Given the description of an element on the screen output the (x, y) to click on. 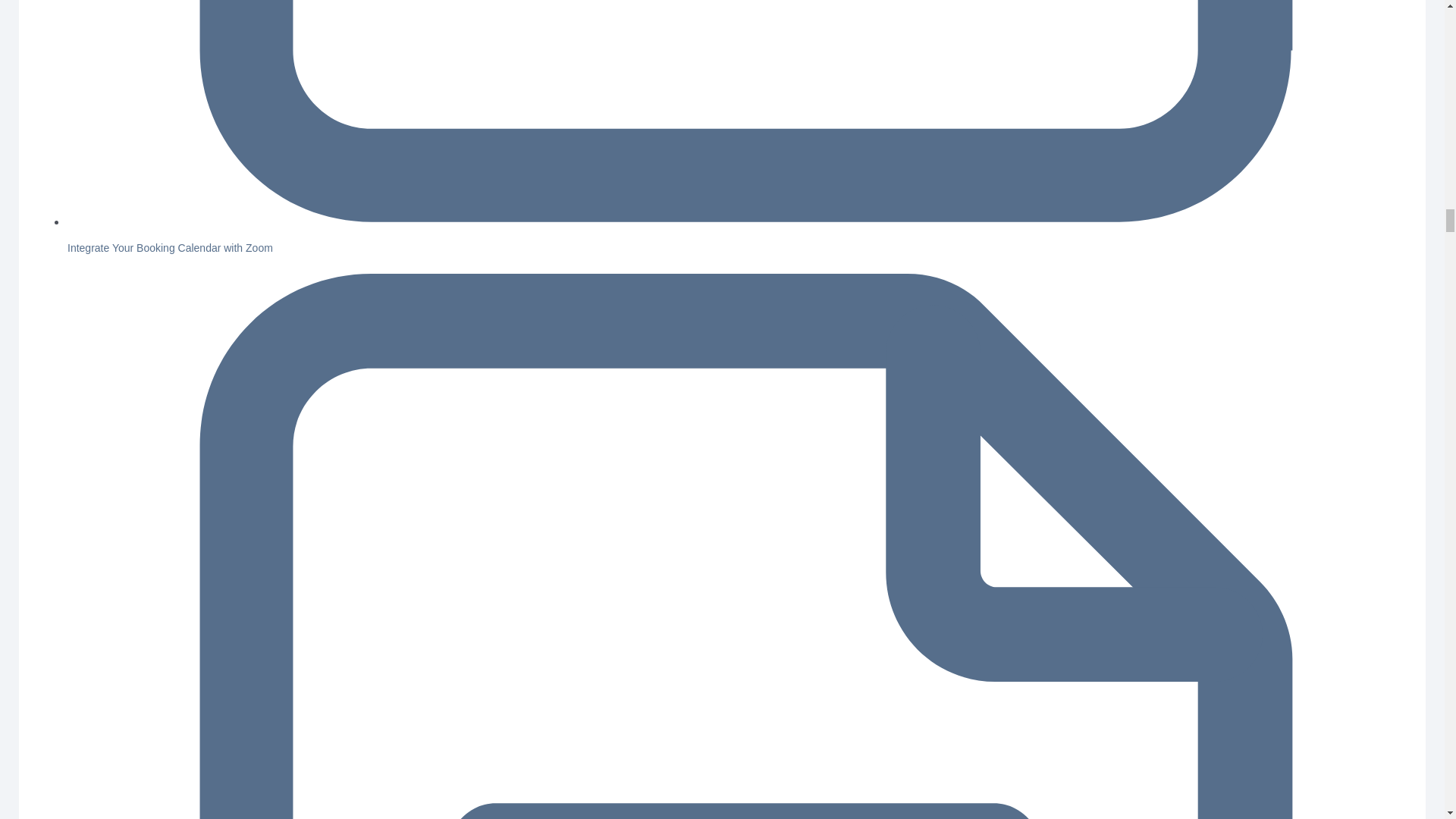
Integrate Your Booking Calendar with Zoom (169, 247)
